Given the description of an element on the screen output the (x, y) to click on. 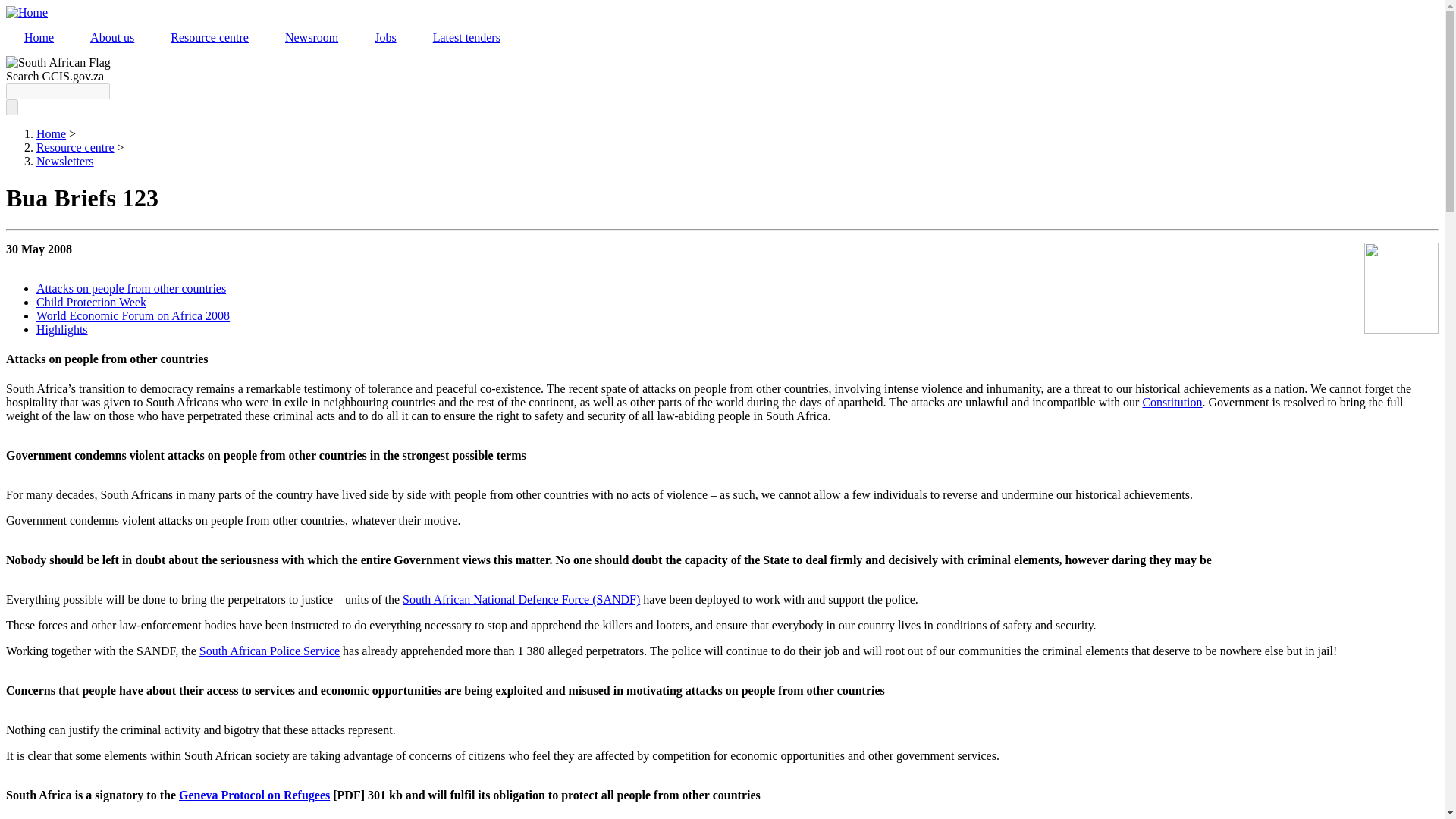
Resource centre (209, 37)
Ouside link - Opens in new window (254, 794)
Ouside link - Opens in new window (1171, 401)
Ouside link - Opens in new window (269, 650)
Home (26, 11)
Newsroom (311, 37)
Newsletters (65, 160)
South African Police Service (269, 650)
Highlights (61, 328)
